Given the description of an element on the screen output the (x, y) to click on. 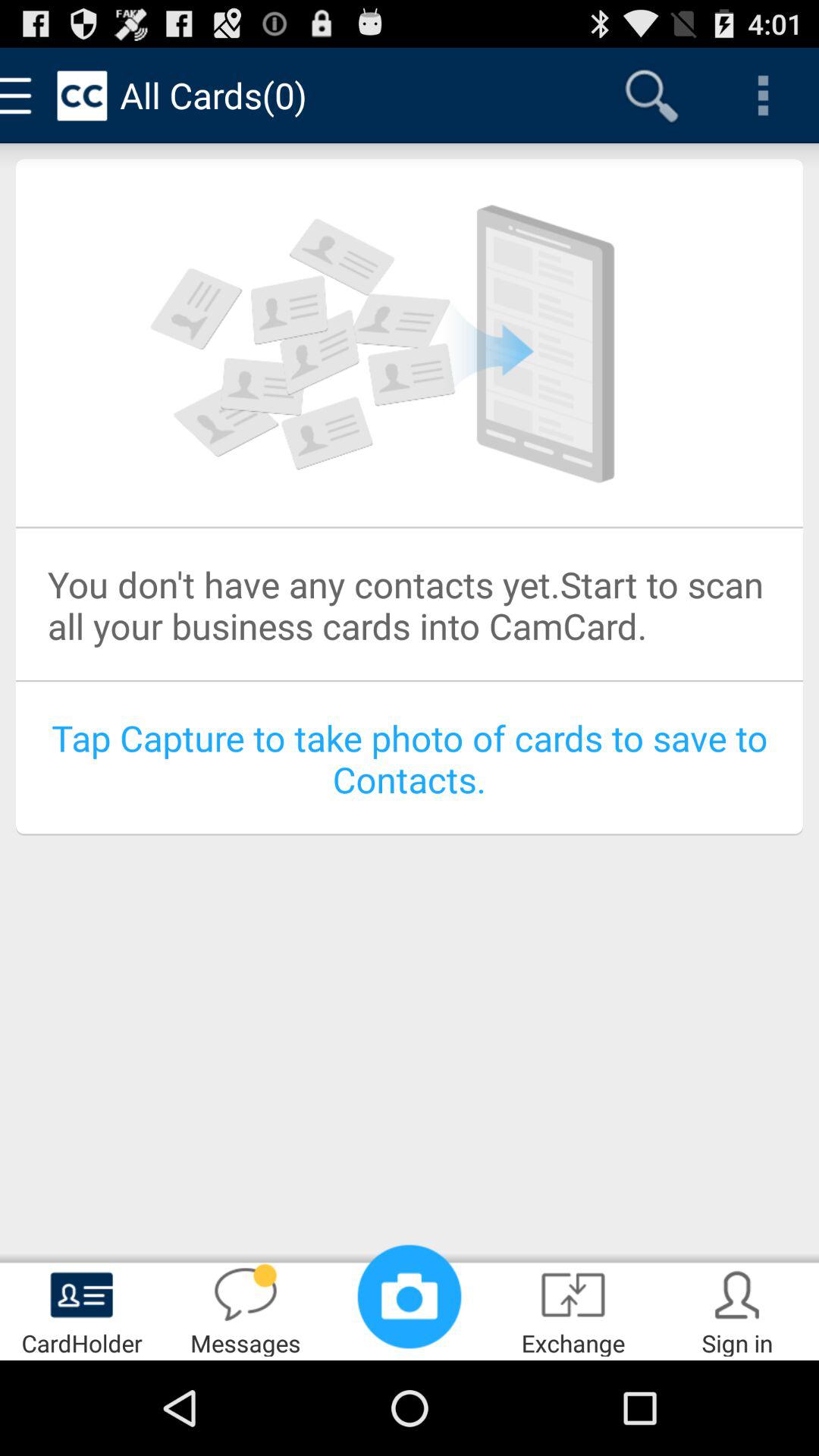
swipe until cardholder (81, 1309)
